Given the description of an element on the screen output the (x, y) to click on. 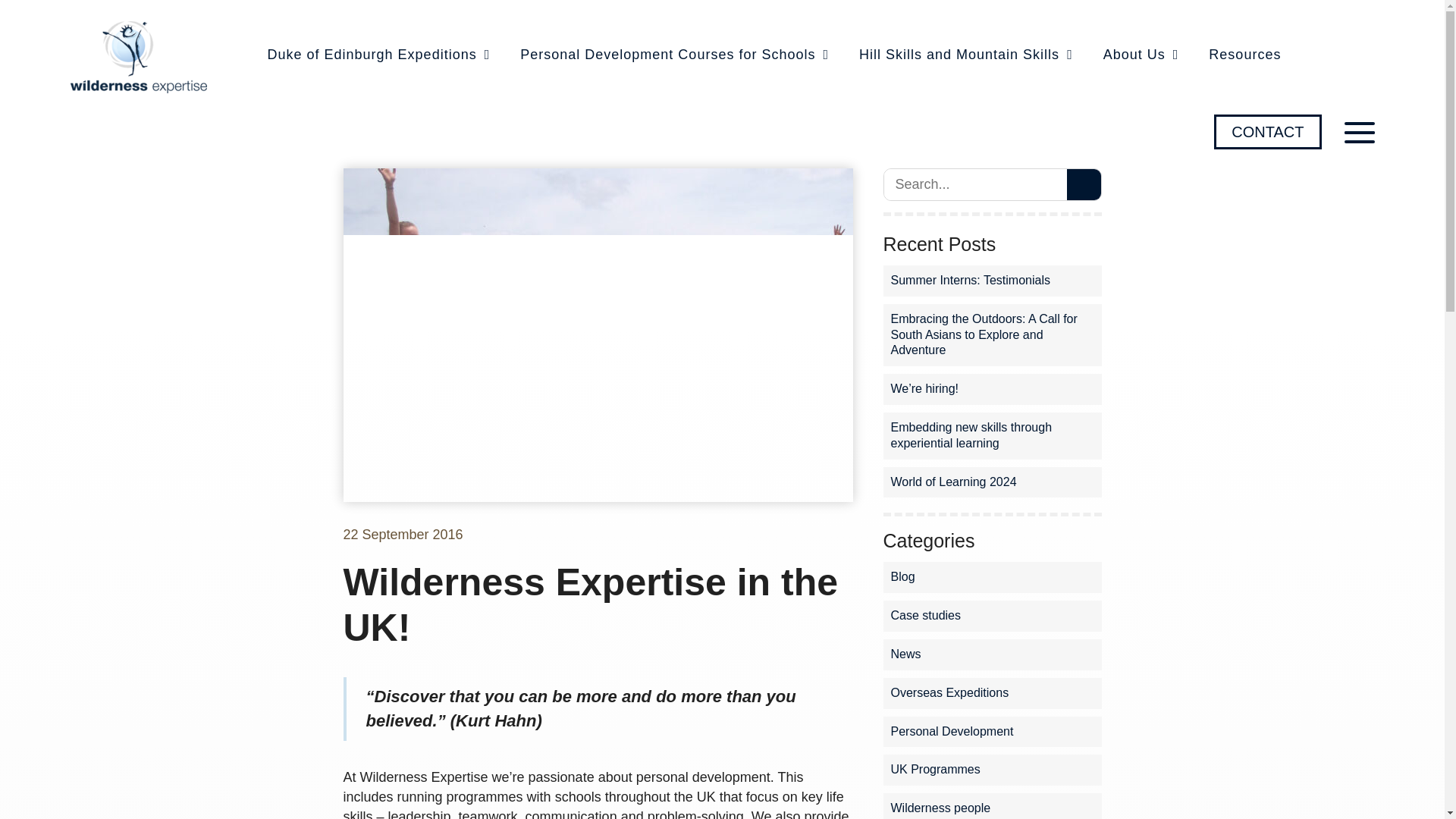
Hill Skills and Mountain Skills (964, 53)
Duke of Edinburgh Expeditions (375, 53)
Personal Development Courses for Schools (672, 53)
